Given the description of an element on the screen output the (x, y) to click on. 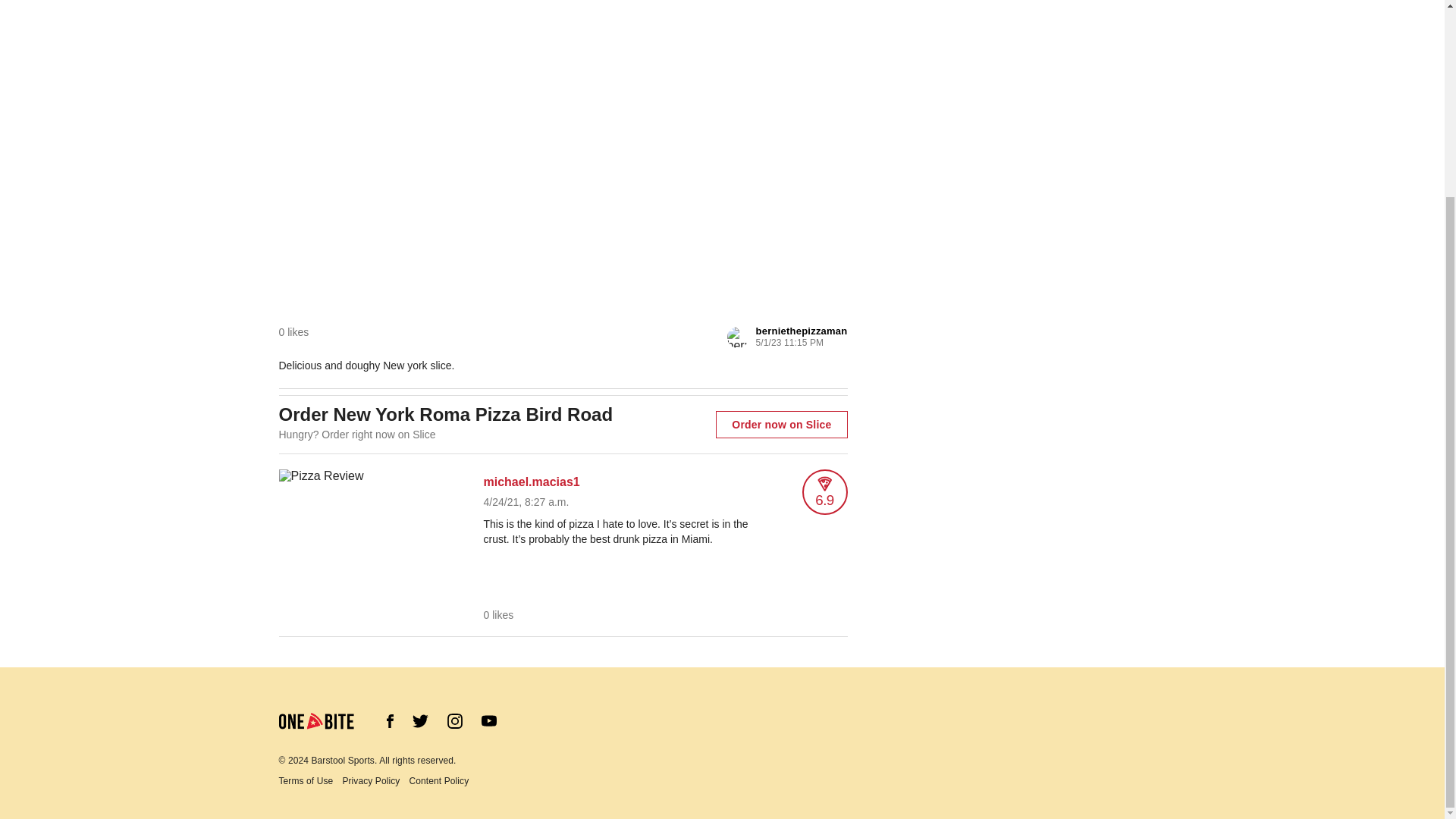
Content Policy (443, 780)
YouTube (488, 720)
Instagram (454, 724)
Instagram (454, 720)
Order now on Slice (781, 424)
YouTube (488, 723)
Twitter (420, 724)
Terms of Use (310, 780)
Twitter (420, 720)
Privacy Policy (375, 780)
